Given the description of an element on the screen output the (x, y) to click on. 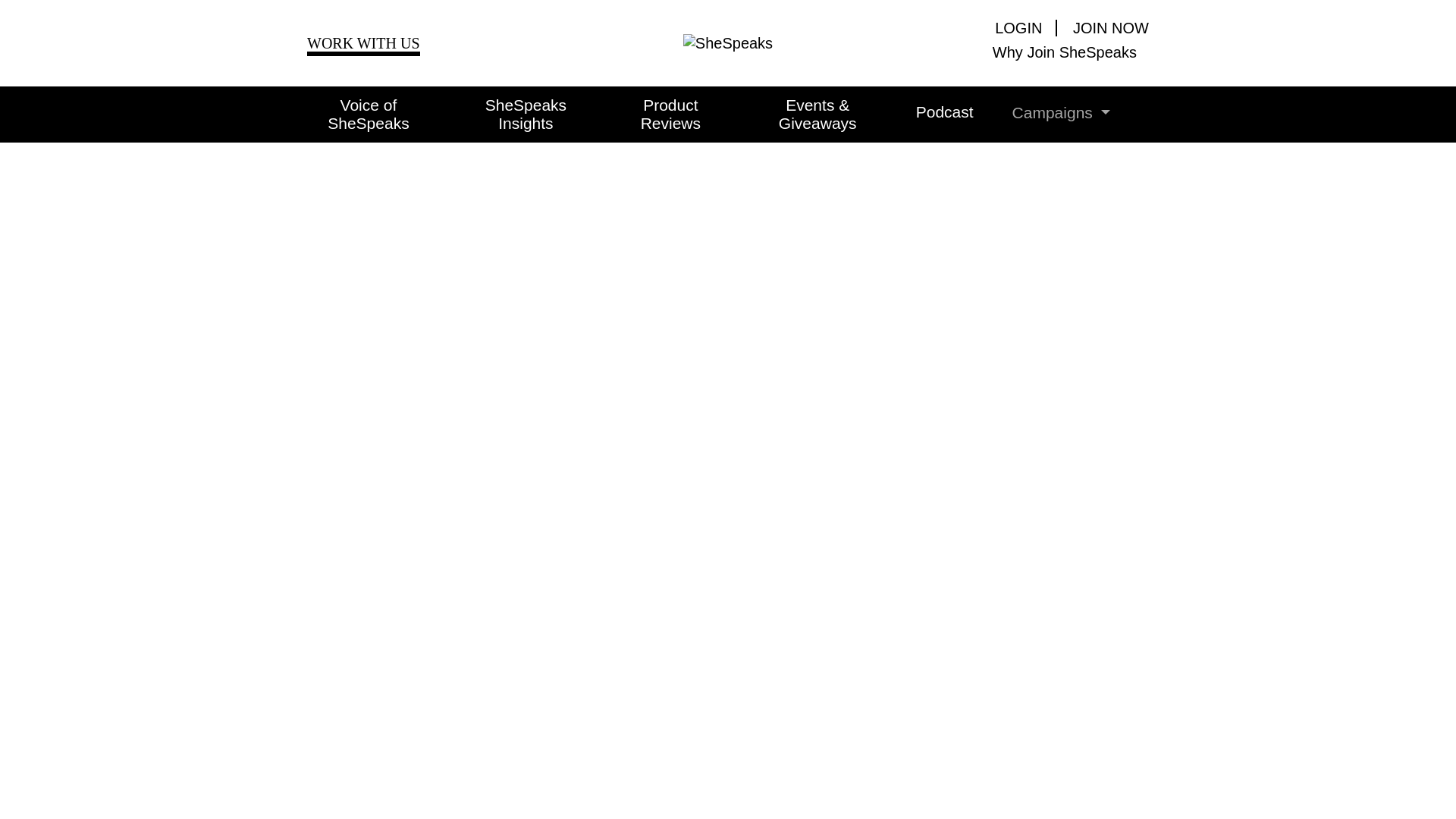
Campaigns (1042, 112)
Login (1025, 27)
Why Join SheSpeaks (1015, 51)
Join Now (1104, 27)
Work with Us (363, 45)
Why Join SheSpeaks (1015, 51)
JOIN NOW (1104, 27)
Podcast (925, 112)
LOGIN (1025, 27)
Podcast (925, 112)
